Given the description of an element on the screen output the (x, y) to click on. 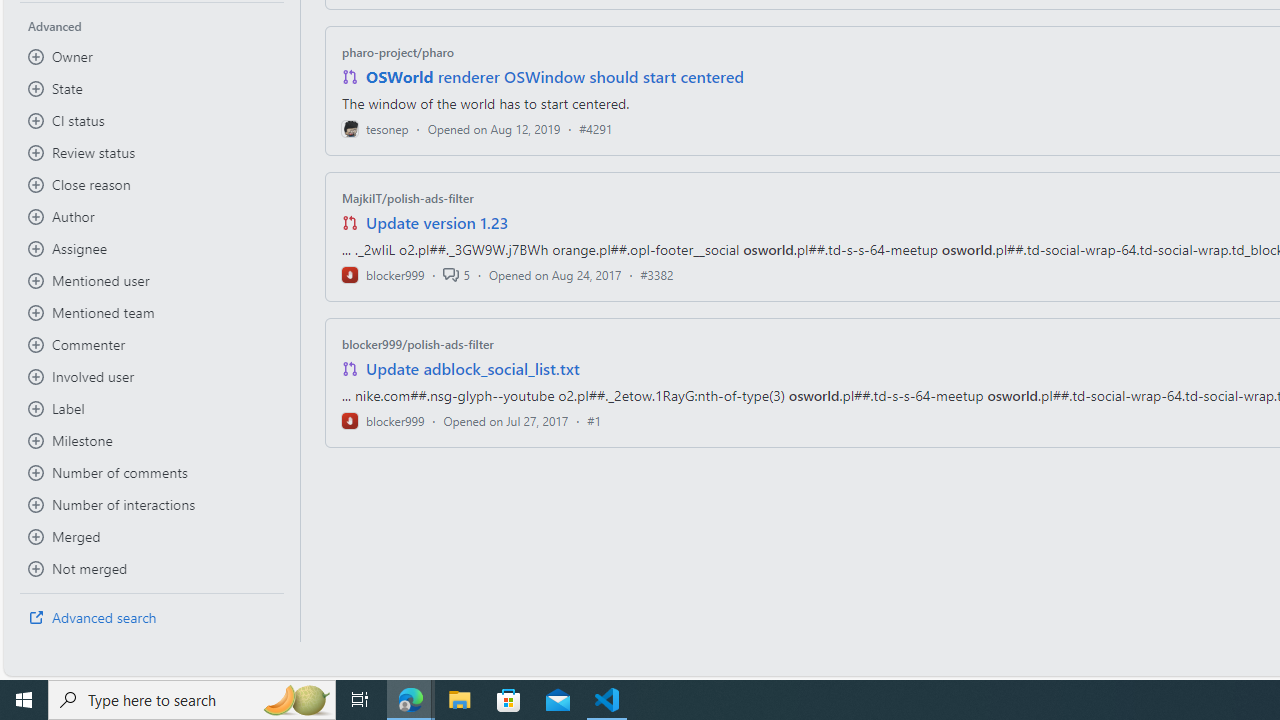
#1 (594, 420)
